Given the description of an element on the screen output the (x, y) to click on. 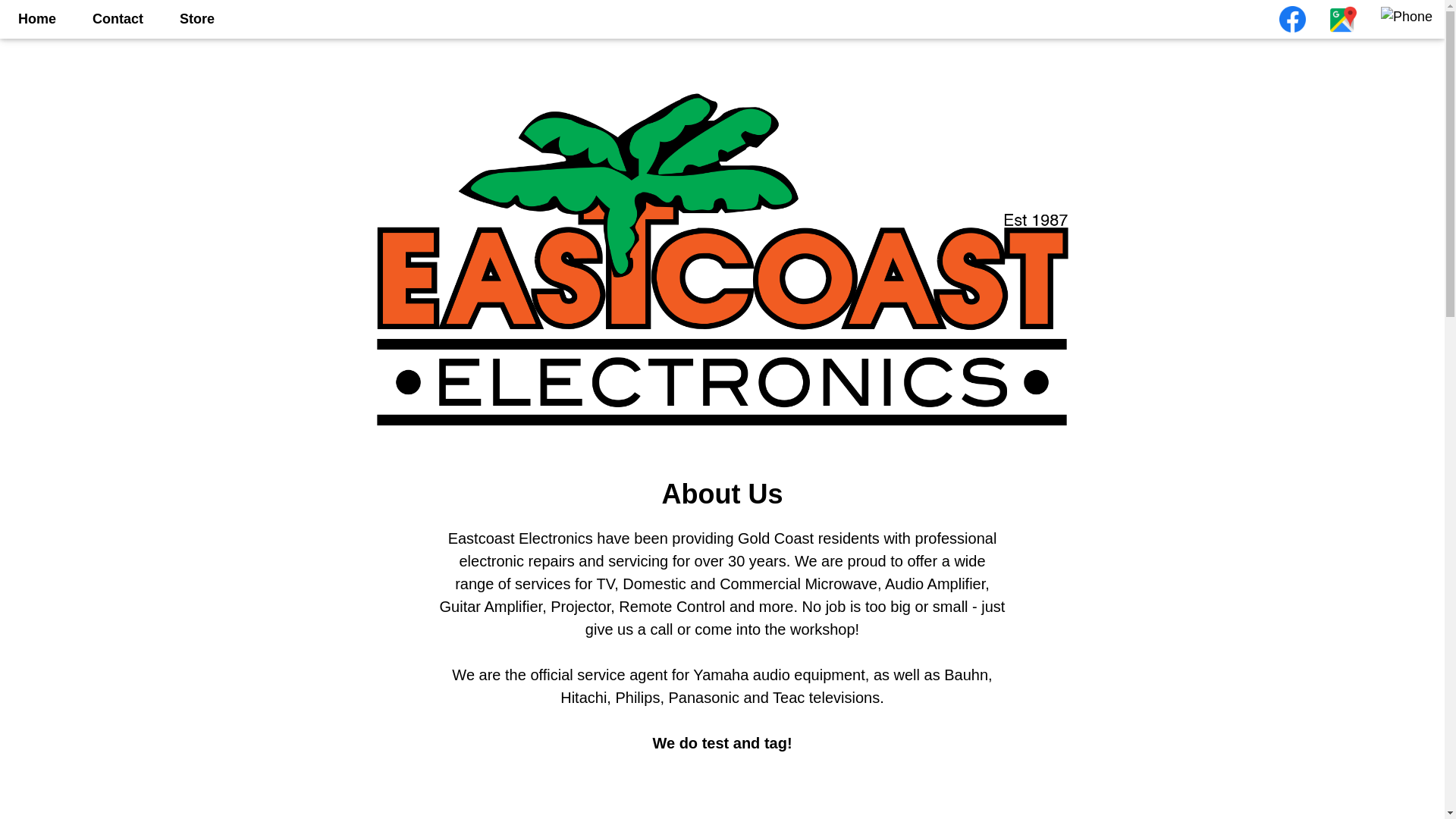
Home (37, 19)
Store (196, 19)
Contact (117, 19)
